Given the description of an element on the screen output the (x, y) to click on. 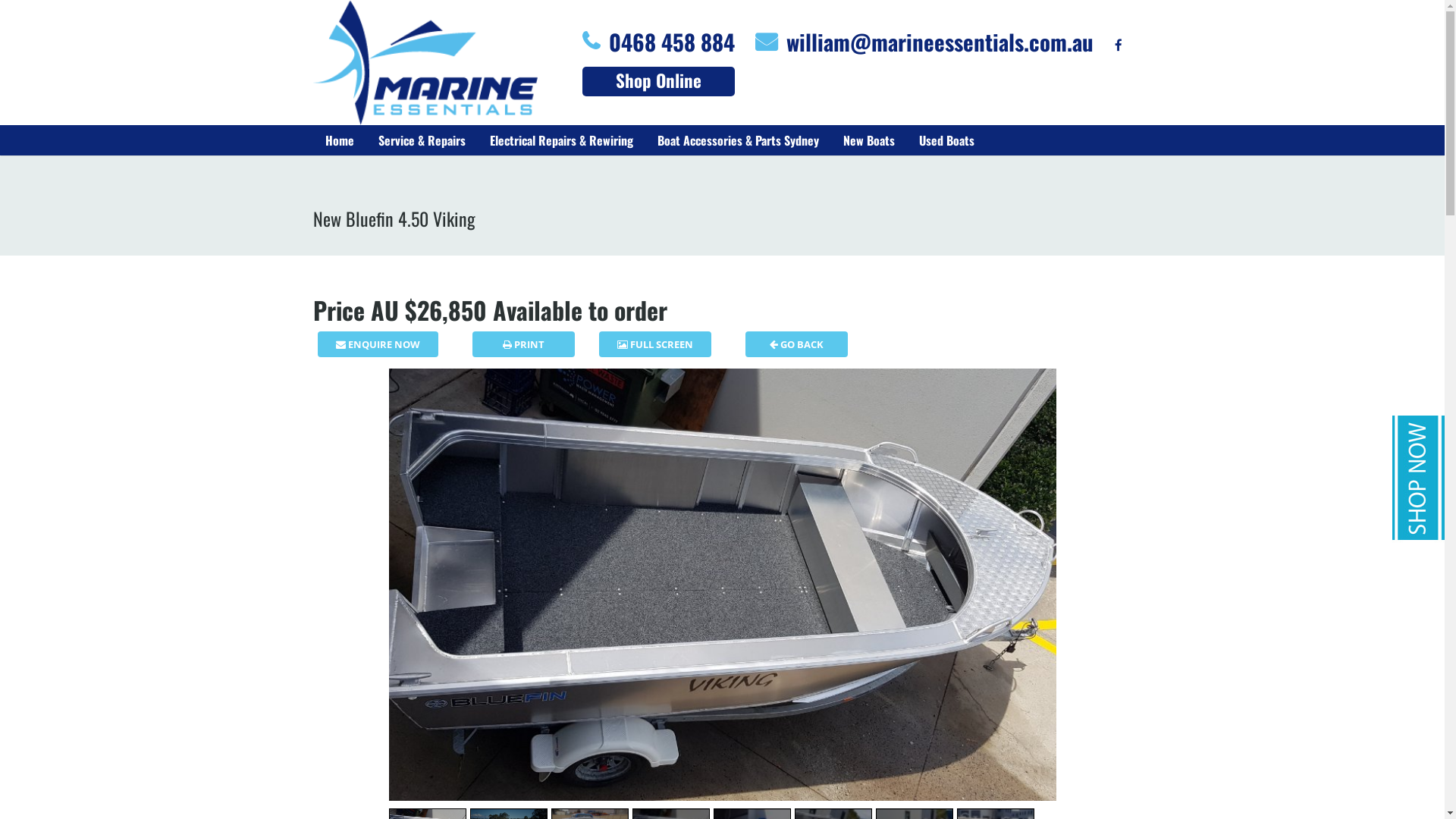
New Boats Element type: text (868, 140)
PRINT Element type: text (522, 344)
Shop Online Element type: text (658, 80)
Electrical Repairs & Rewiring Element type: text (561, 140)
GO BACK Element type: text (795, 344)
0468 458 884 Element type: text (671, 41)
Used Boats Element type: text (946, 140)
ENQUIRE NOW Element type: text (376, 344)
Home Element type: text (338, 140)
FULL SCREEN Element type: text (655, 344)
william@marineessentials.com.au Element type: text (938, 41)
Service & Repairs Element type: text (420, 140)
Boat Accessories & Parts Sydney Element type: text (737, 140)
